Given the description of an element on the screen output the (x, y) to click on. 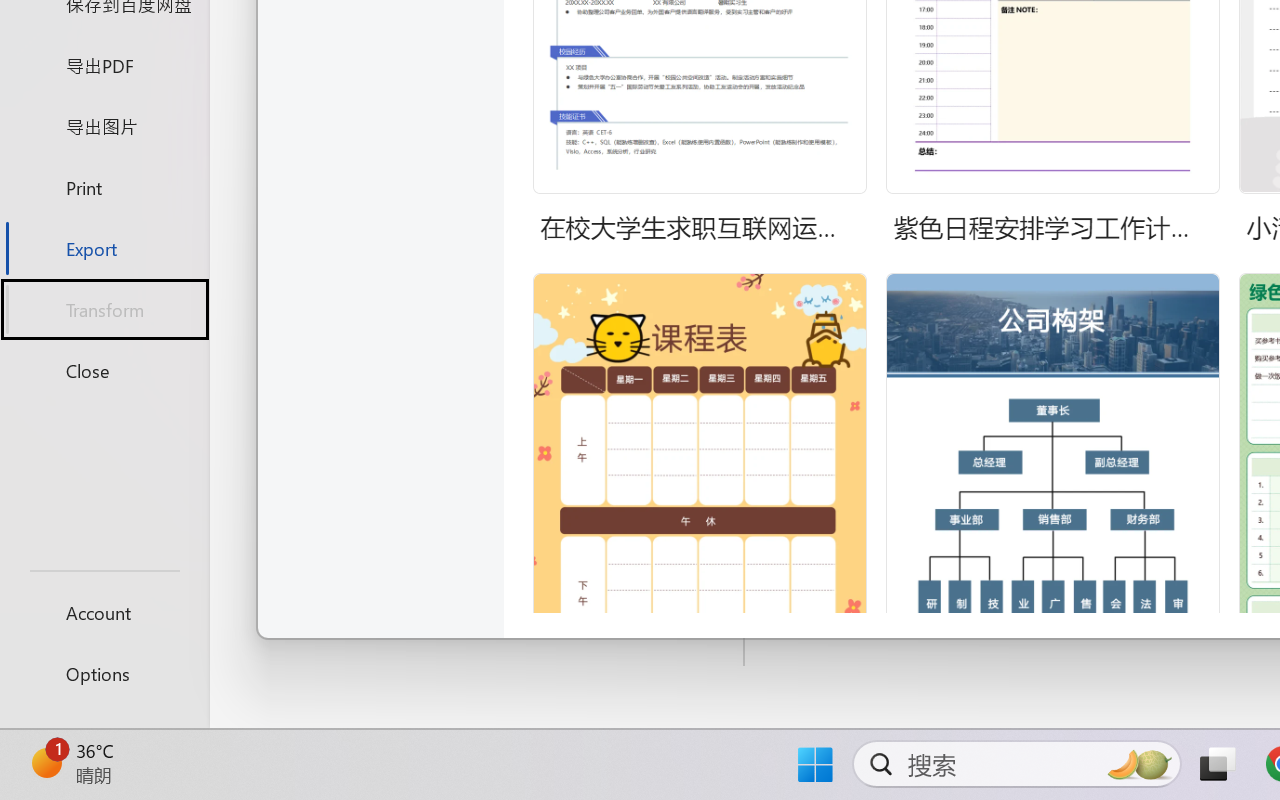
Options (104, 673)
Transform (104, 309)
Account (104, 612)
Print (104, 186)
Export (104, 248)
